Given the description of an element on the screen output the (x, y) to click on. 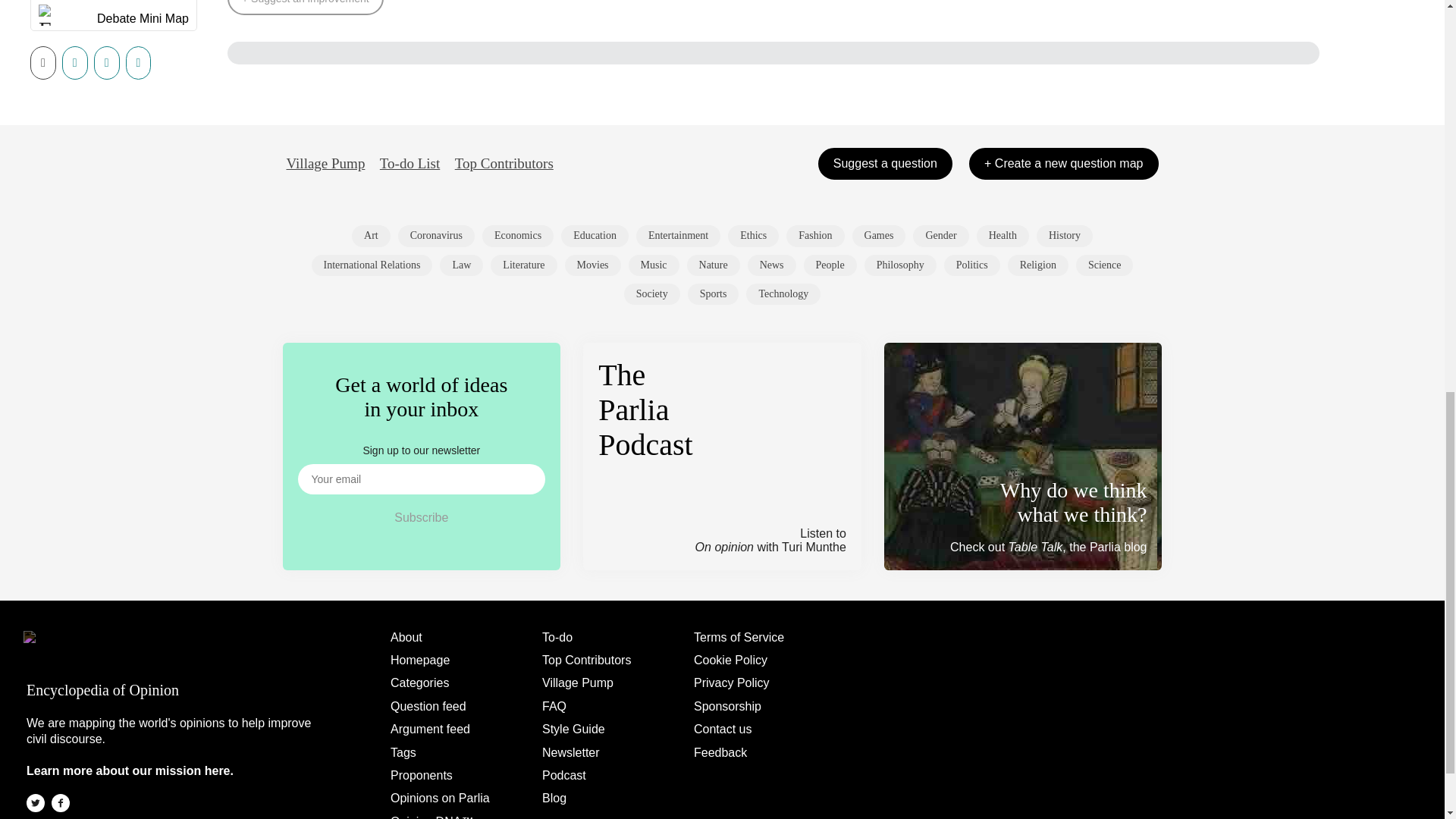
Category item (594, 235)
Category item (371, 235)
Category item (517, 235)
Category item (815, 235)
Entertainment (678, 235)
Top Contributors (503, 163)
Category item (878, 235)
Games (878, 235)
Category item (940, 235)
Coronavirus (435, 235)
